Given the description of an element on the screen output the (x, y) to click on. 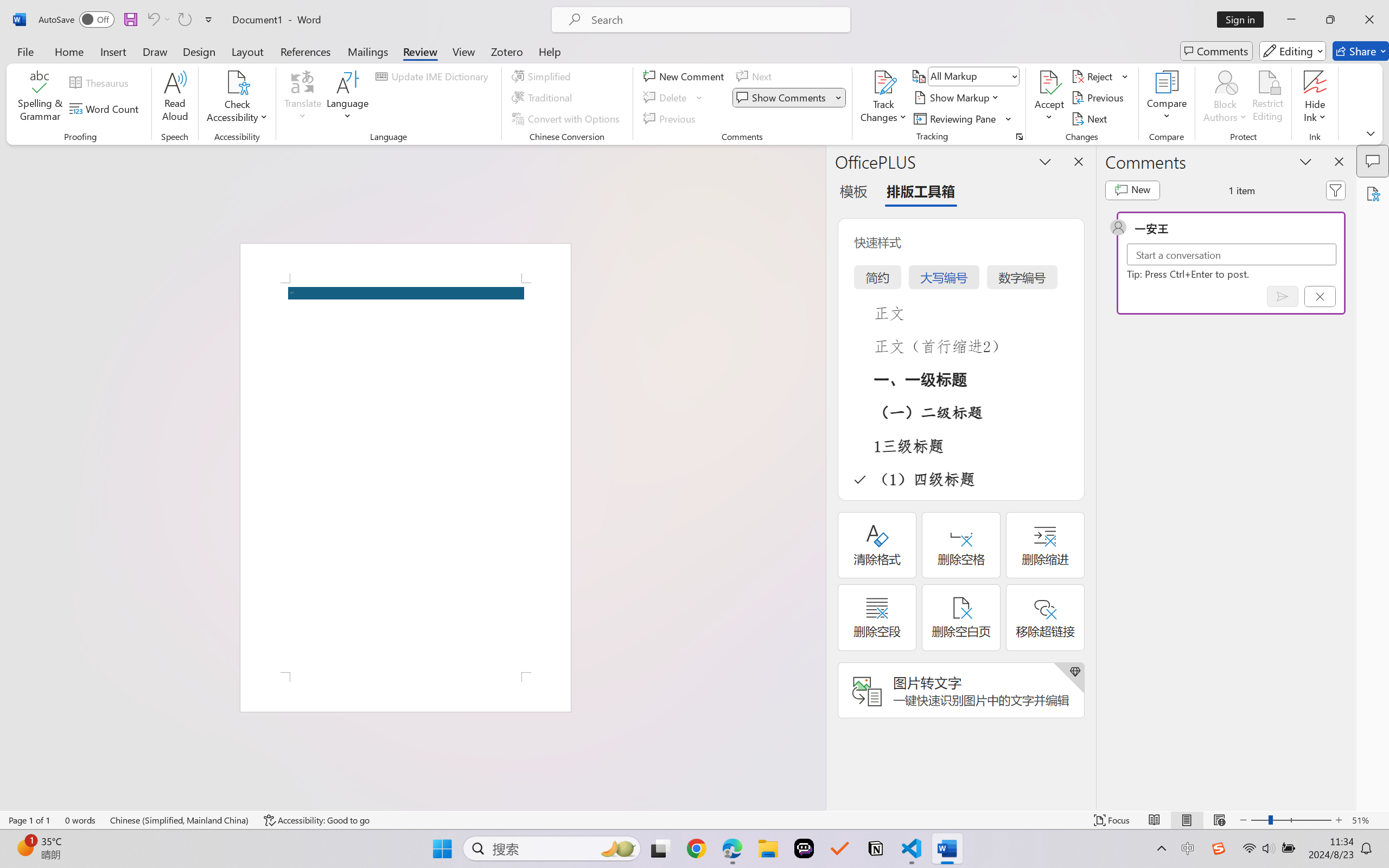
Track Changes (883, 97)
Check Accessibility (237, 81)
Hide Ink (1315, 81)
New Comment (685, 75)
Read Aloud (174, 97)
